Given the description of an element on the screen output the (x, y) to click on. 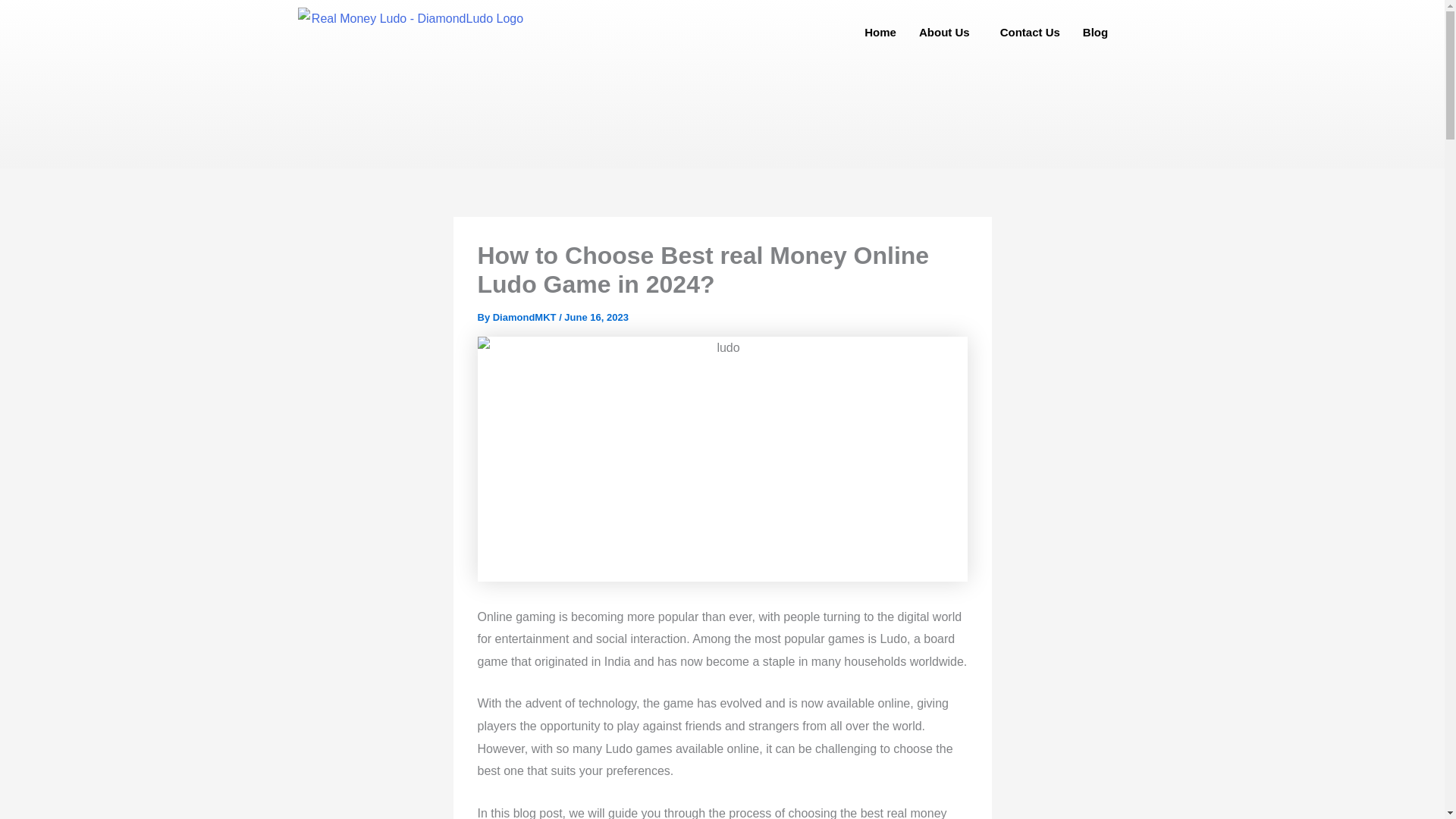
View all posts by DiamondMKT (526, 317)
Blog (1095, 31)
Home (880, 31)
Contact Us (1029, 31)
DiamondMKT (526, 317)
About Us (947, 31)
